Given the description of an element on the screen output the (x, y) to click on. 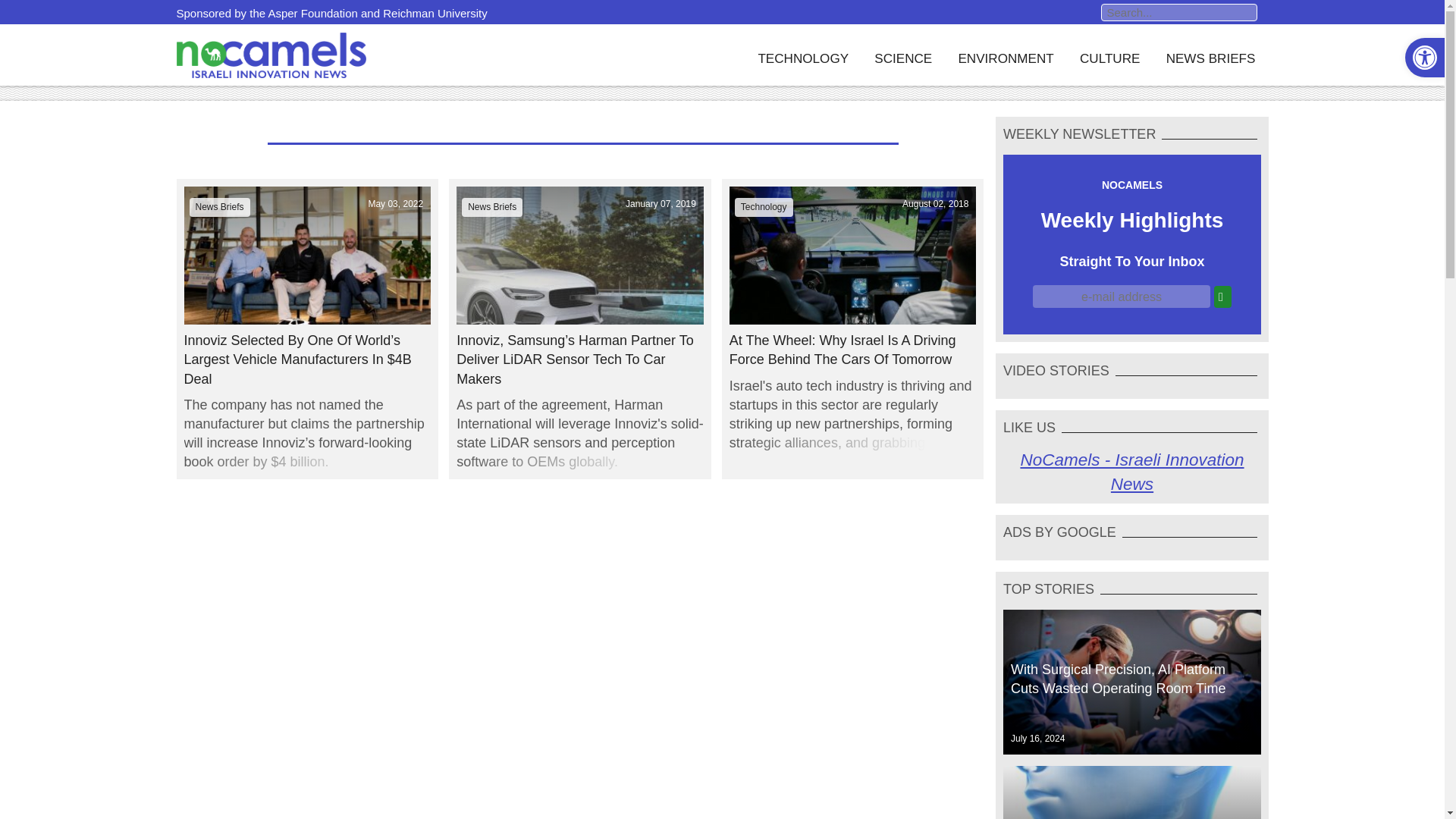
ENVIRONMENT (1005, 55)
the Asper Foundation (303, 11)
NoCamels - Israeli Innovation News (1131, 471)
Technology (764, 206)
NEWS BRIEFS (1210, 55)
Reichman University (434, 11)
SCIENCE (903, 55)
TECHNOLOGY (802, 55)
News Briefs (219, 206)
News Briefs (491, 206)
CULTURE (1110, 55)
Accessibility Tools (1424, 57)
